Given the description of an element on the screen output the (x, y) to click on. 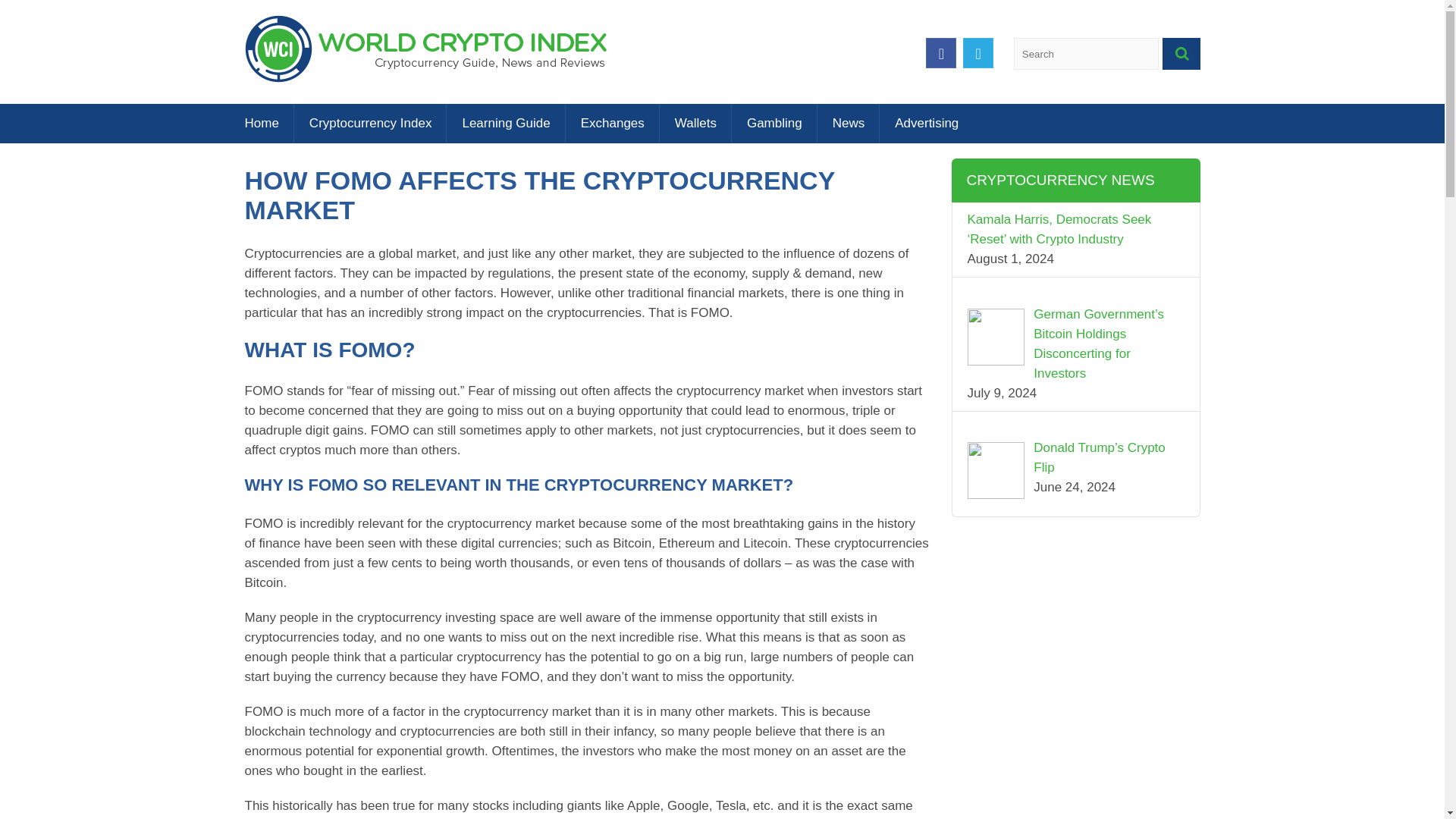
Home (269, 123)
Advertising (918, 123)
News (848, 123)
Exchanges (612, 123)
Wallets (695, 123)
Learning Guide (505, 123)
Gambling (774, 123)
Cryptocurrency Index (370, 123)
